Given the description of an element on the screen output the (x, y) to click on. 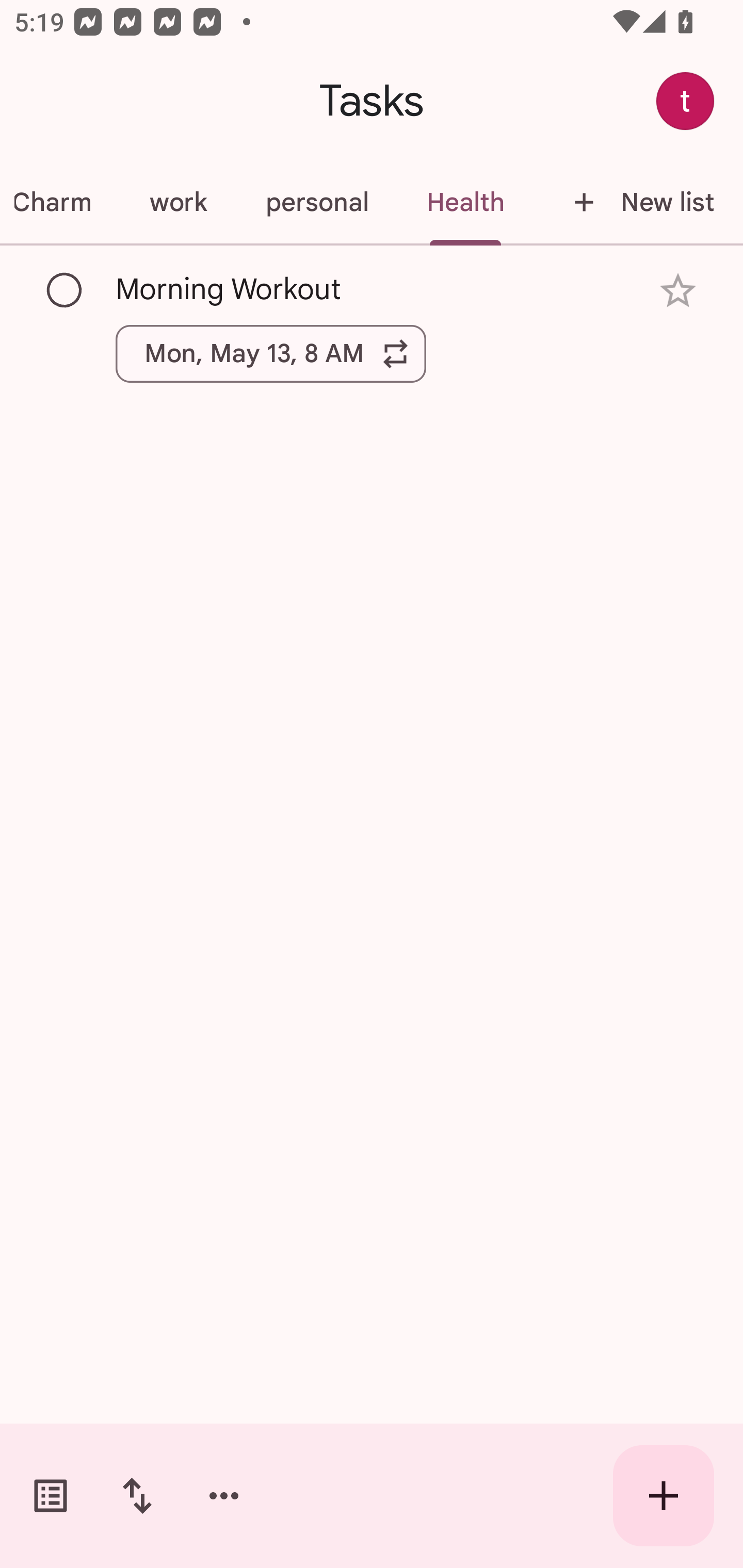
The Art of Charm (60, 202)
work (178, 202)
personal (316, 202)
New list (638, 202)
Add star (677, 290)
Mark as complete (64, 290)
Mon, May 13, 8 AM (270, 353)
Switch task lists (50, 1495)
Create new task (663, 1495)
Change sort order (136, 1495)
More options (223, 1495)
